Given the description of an element on the screen output the (x, y) to click on. 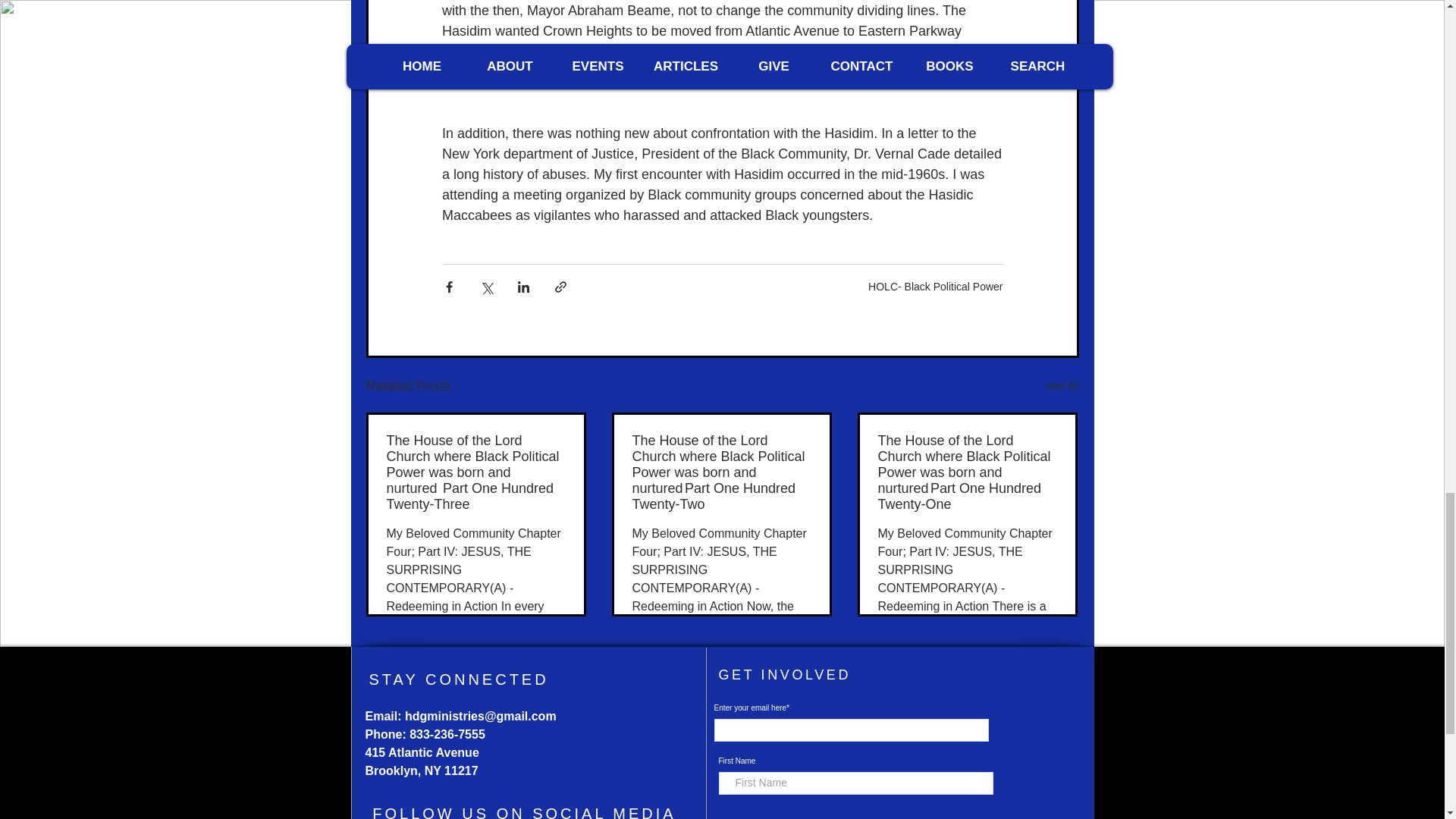
HOLC- Black Political Power (935, 286)
See All (1061, 386)
